Given the description of an element on the screen output the (x, y) to click on. 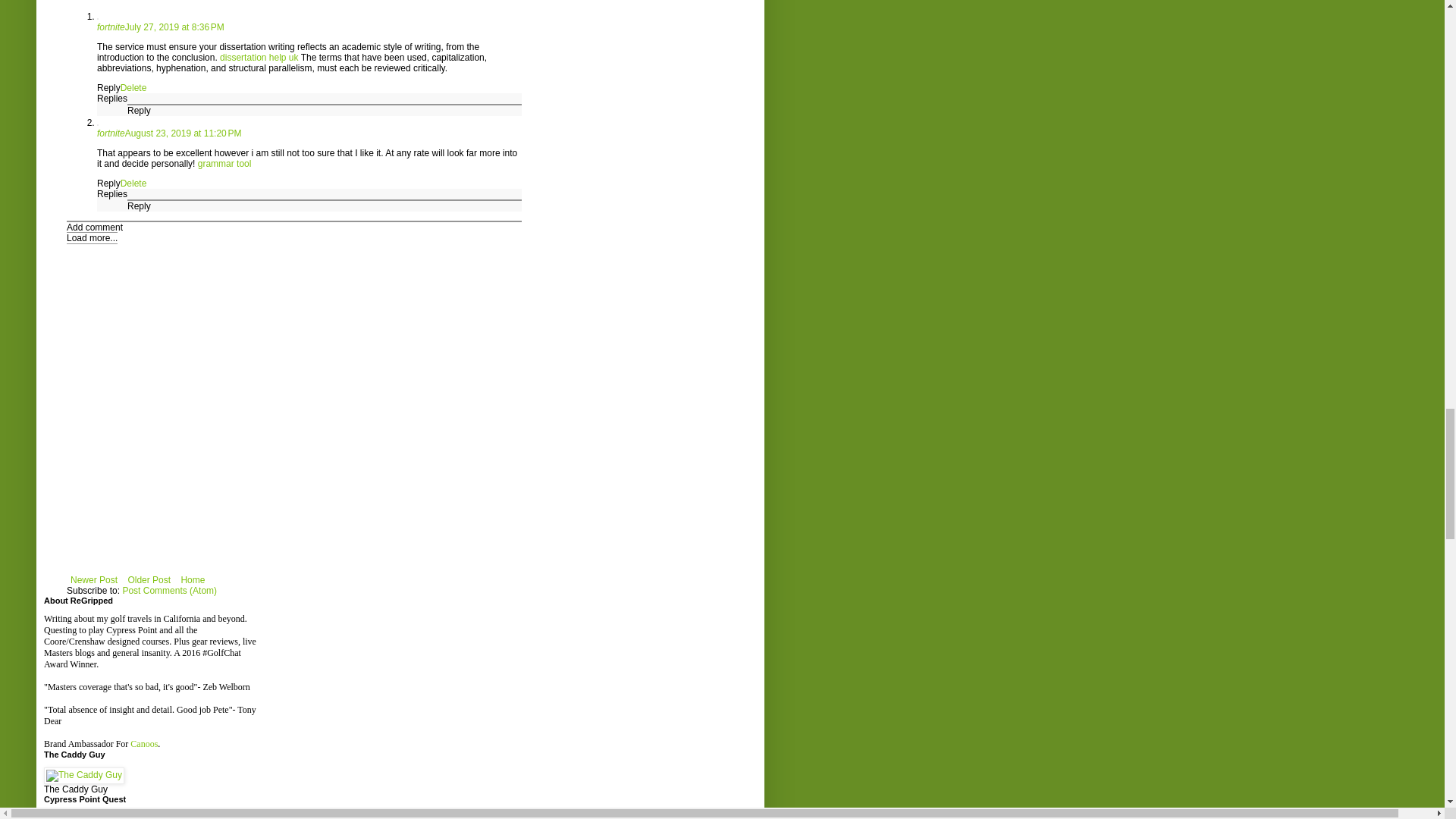
dissertation help uk (258, 57)
Load more... (91, 237)
Reply (139, 205)
Reply (108, 183)
Replies (112, 98)
Replies (112, 194)
Older Post (148, 579)
fortnite (111, 27)
Newer Post (93, 579)
grammar tool (224, 163)
Reply (139, 110)
Newer Post (93, 579)
fortnite (111, 132)
Reply (108, 87)
